Given the description of an element on the screen output the (x, y) to click on. 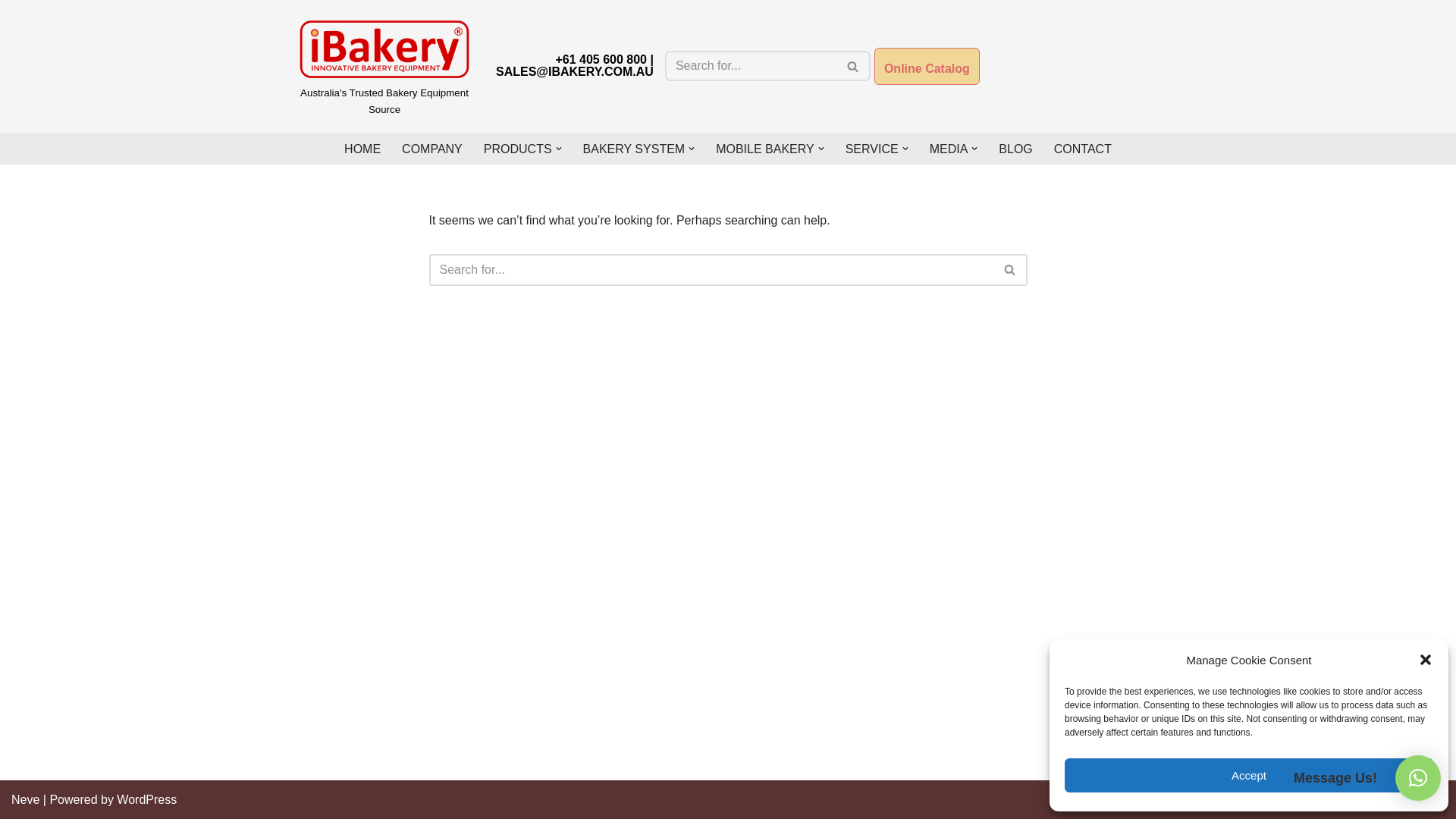
MOBILE BAKERY Element type: text (764, 148)
Message Us! Element type: text (1417, 777)
BAKERY SYSTEM Element type: text (634, 148)
WordPress Element type: text (146, 799)
HOME Element type: text (362, 148)
Accept Element type: text (1248, 775)
Skip to content Element type: text (11, 31)
COMPANY Element type: text (431, 148)
PRODUCTS Element type: text (517, 148)
BLOG Element type: text (1015, 148)
CONTACT Element type: text (1082, 148)
Neve Element type: text (25, 799)
Online Catalog Element type: text (926, 66)
MEDIA Element type: text (948, 148)
SERVICE Element type: text (871, 148)
